Given the description of an element on the screen output the (x, y) to click on. 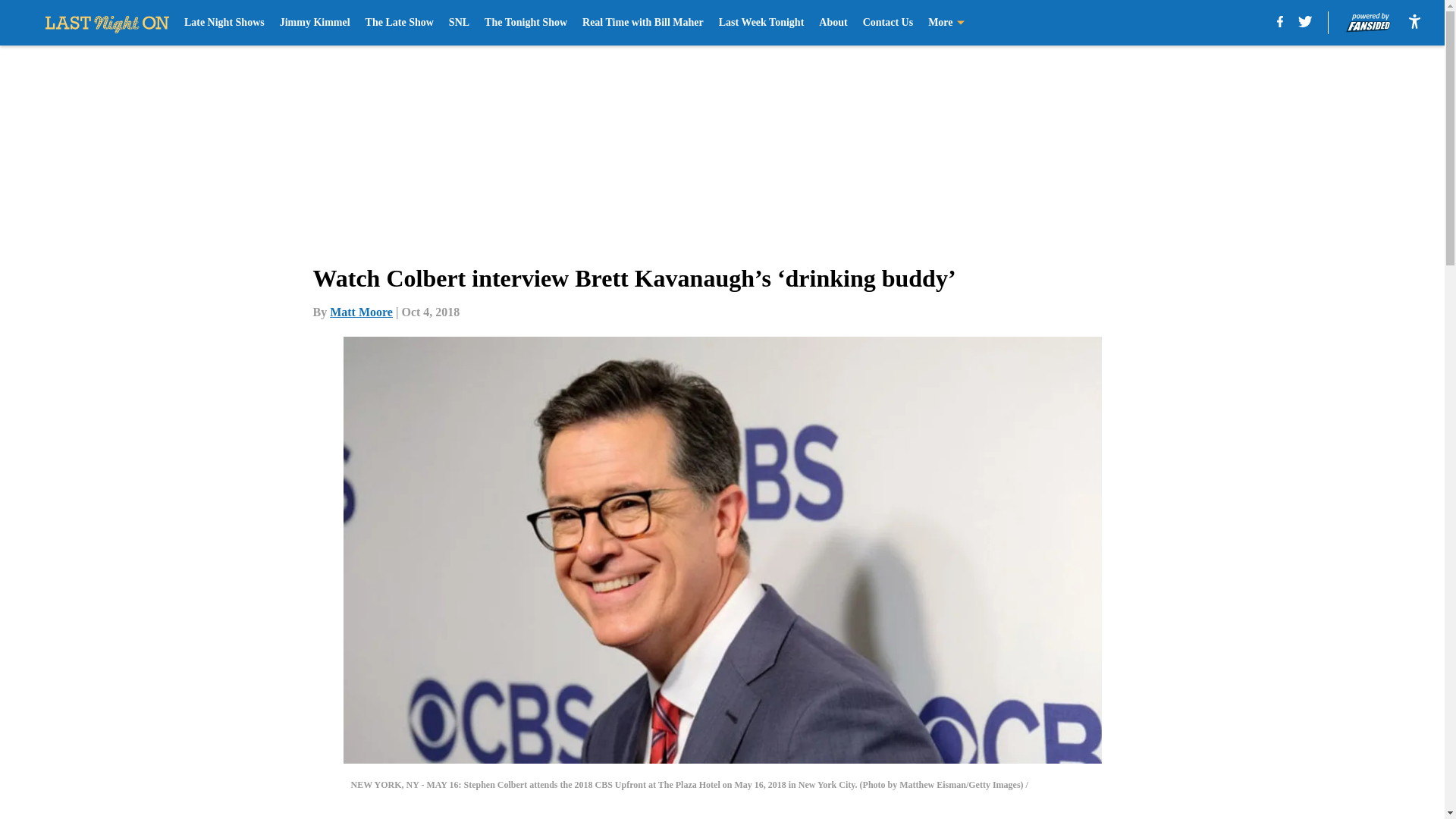
Late Night Shows (224, 22)
Contact Us (888, 22)
Real Time with Bill Maher (642, 22)
Jimmy Kimmel (314, 22)
Last Week Tonight (762, 22)
About (832, 22)
SNL (458, 22)
Matt Moore (361, 311)
The Late Show (399, 22)
The Tonight Show (525, 22)
More (945, 22)
